Given the description of an element on the screen output the (x, y) to click on. 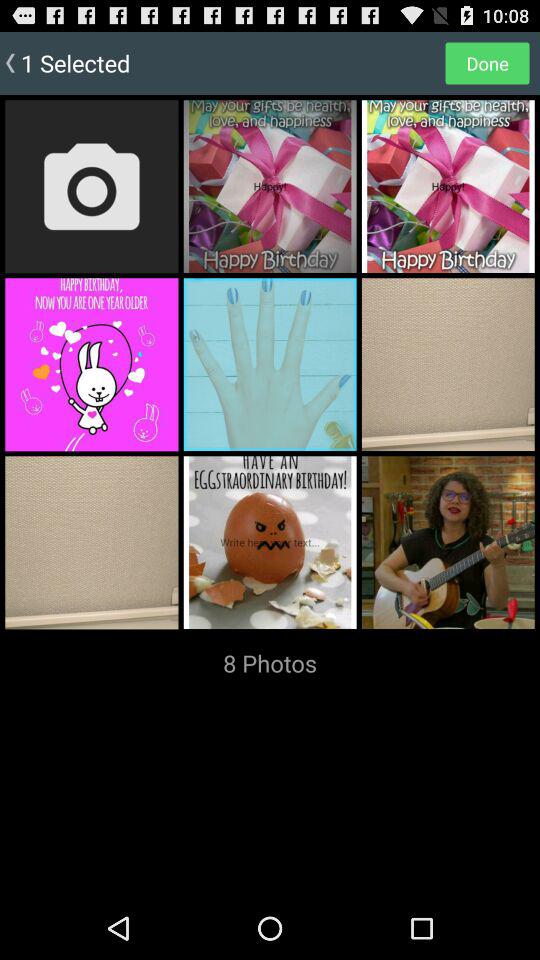
select 8 photos item (269, 663)
